Given the description of an element on the screen output the (x, y) to click on. 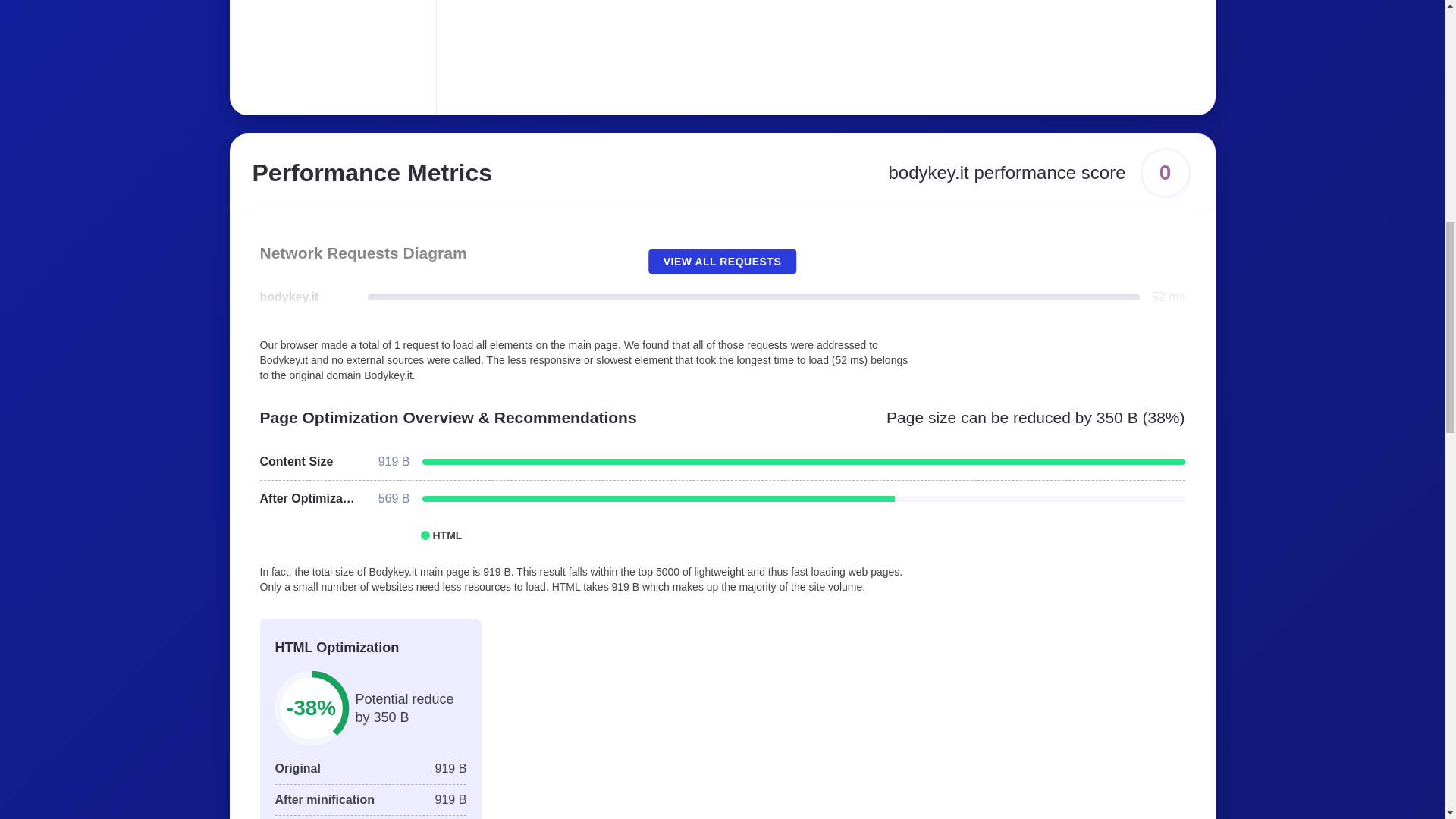
VIEW ALL REQUESTS (721, 261)
